Given the description of an element on the screen output the (x, y) to click on. 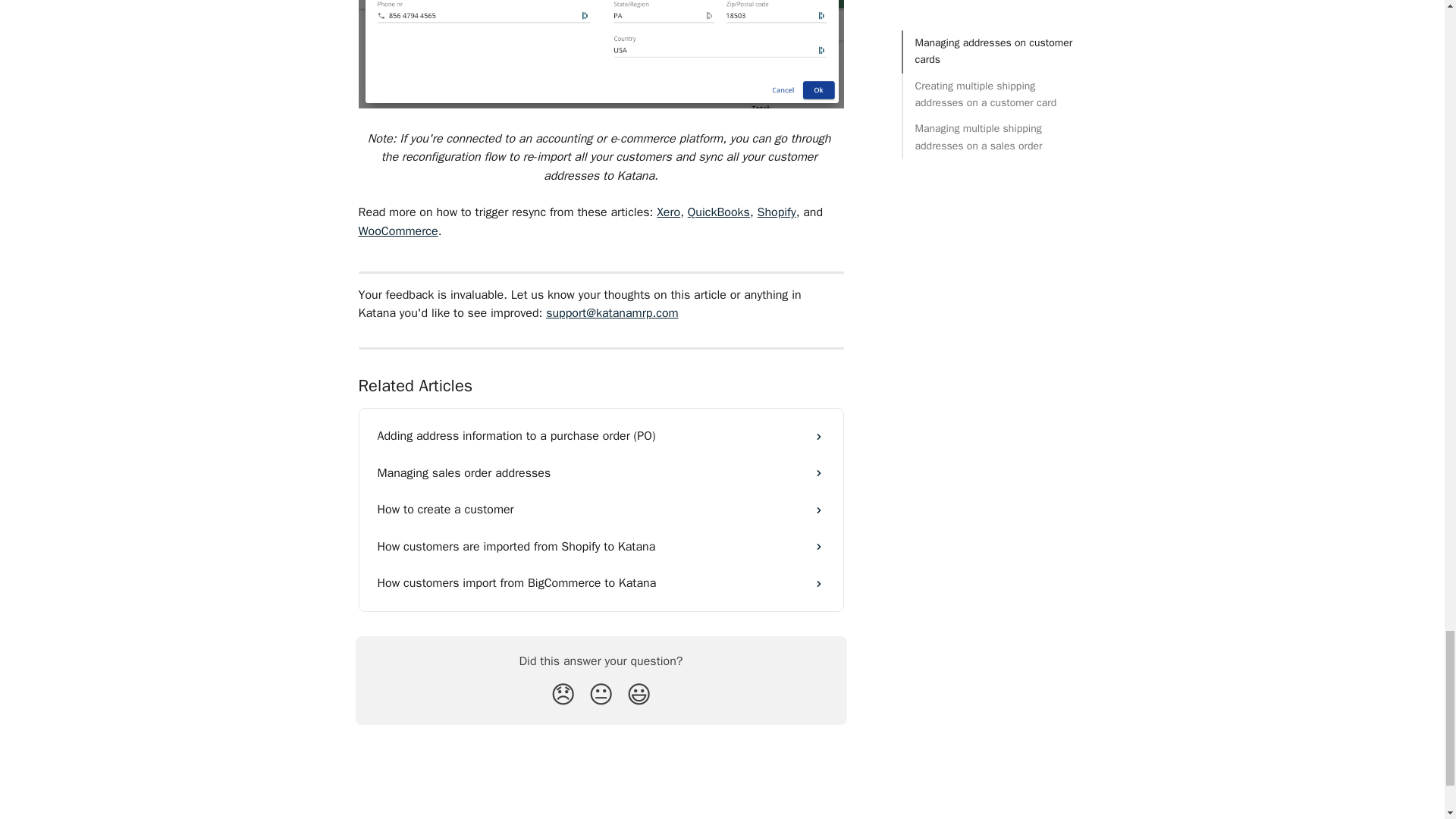
Xero (667, 212)
WooCommerce (398, 231)
QuickBooks (718, 212)
Managing sales order addresses (601, 473)
How customers are imported from Shopify to Katana (601, 546)
How customers import from BigCommerce to Katana (601, 583)
Shopify (775, 212)
How to create a customer (601, 509)
